Given the description of an element on the screen output the (x, y) to click on. 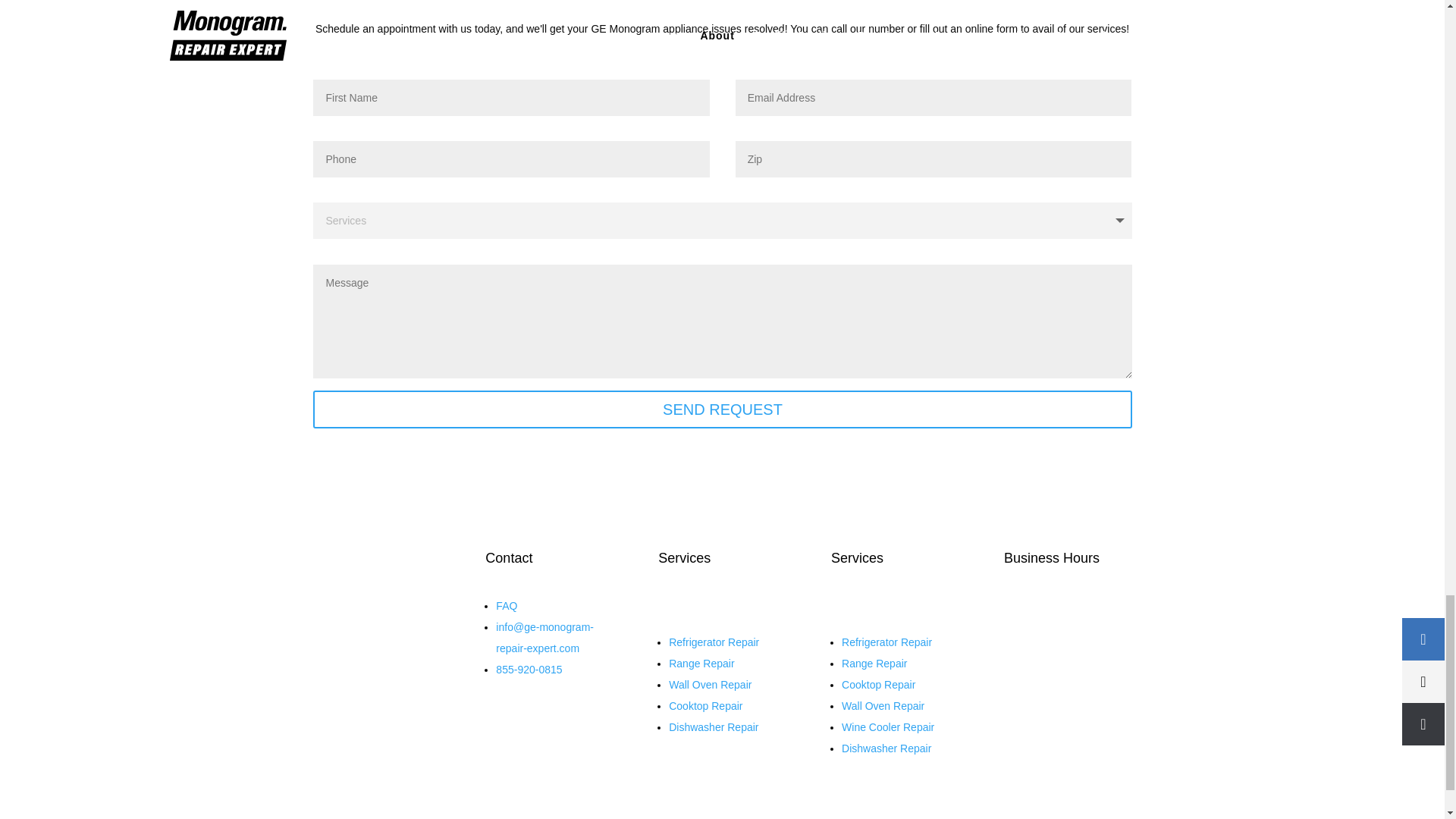
Range Repair (700, 663)
SEND REQUEST (722, 409)
Dishwasher Repair (886, 748)
Cooktop Repair (705, 705)
Range Repair (874, 663)
Dishwasher Repair (713, 727)
FAQ (506, 605)
Cooktop Repair (878, 684)
Only numbers allowed. (933, 158)
Refrigerator Repair (886, 642)
Wall Oven Repair (882, 705)
Only numbers allowed. (511, 158)
Wall Oven Repair (709, 684)
Wine Cooler Repair (887, 727)
Refrigerator Repair (713, 642)
